Given the description of an element on the screen output the (x, y) to click on. 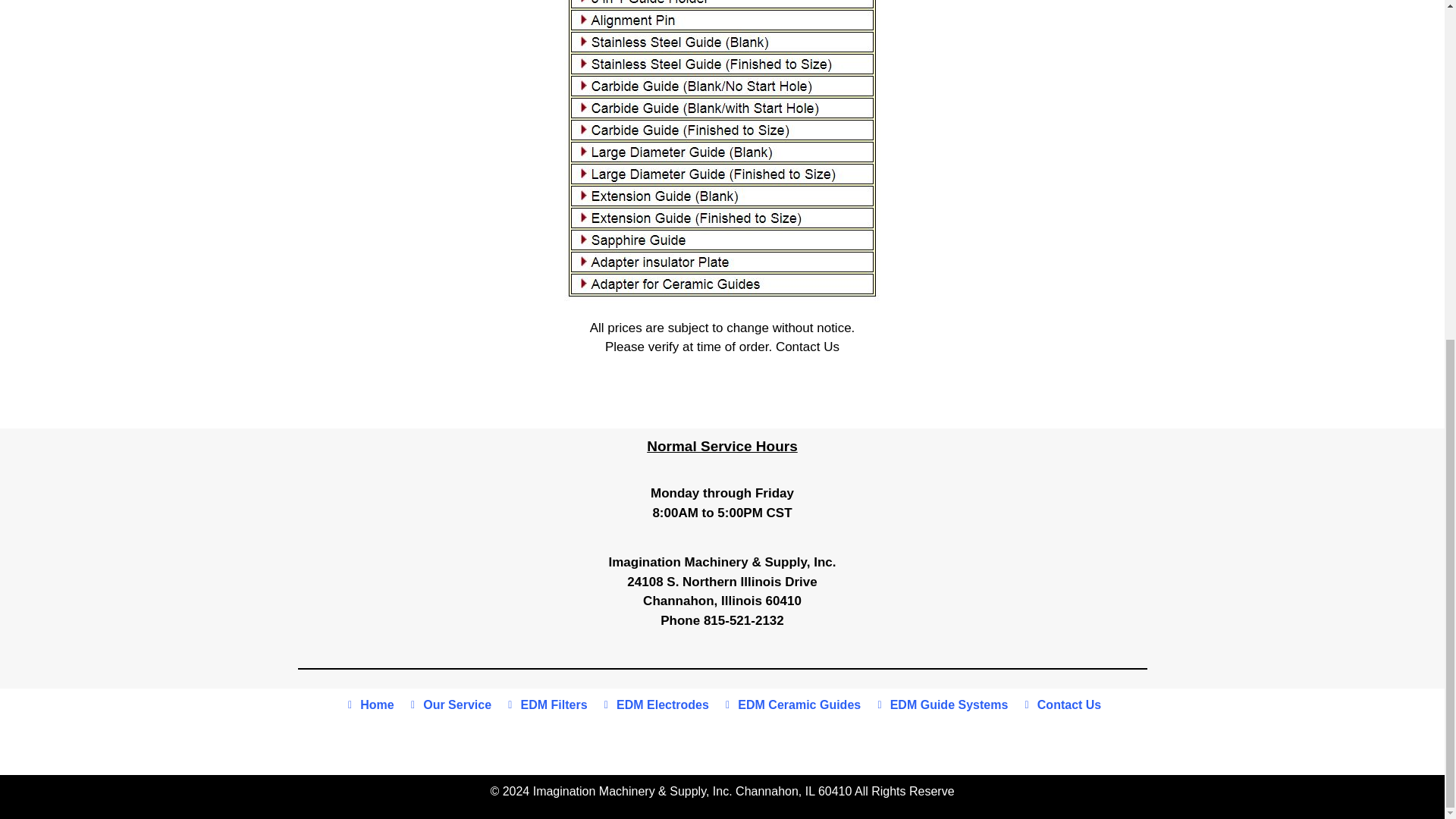
EDM Guide Systems (939, 705)
Our Service (449, 705)
Phone 815-521-2132 (722, 620)
EDM Ceramic Guides (790, 705)
Contact Us (808, 346)
EDM Filters (545, 705)
EDM Electrodes (654, 705)
Contact Us (1060, 705)
Home (368, 705)
